Given the description of an element on the screen output the (x, y) to click on. 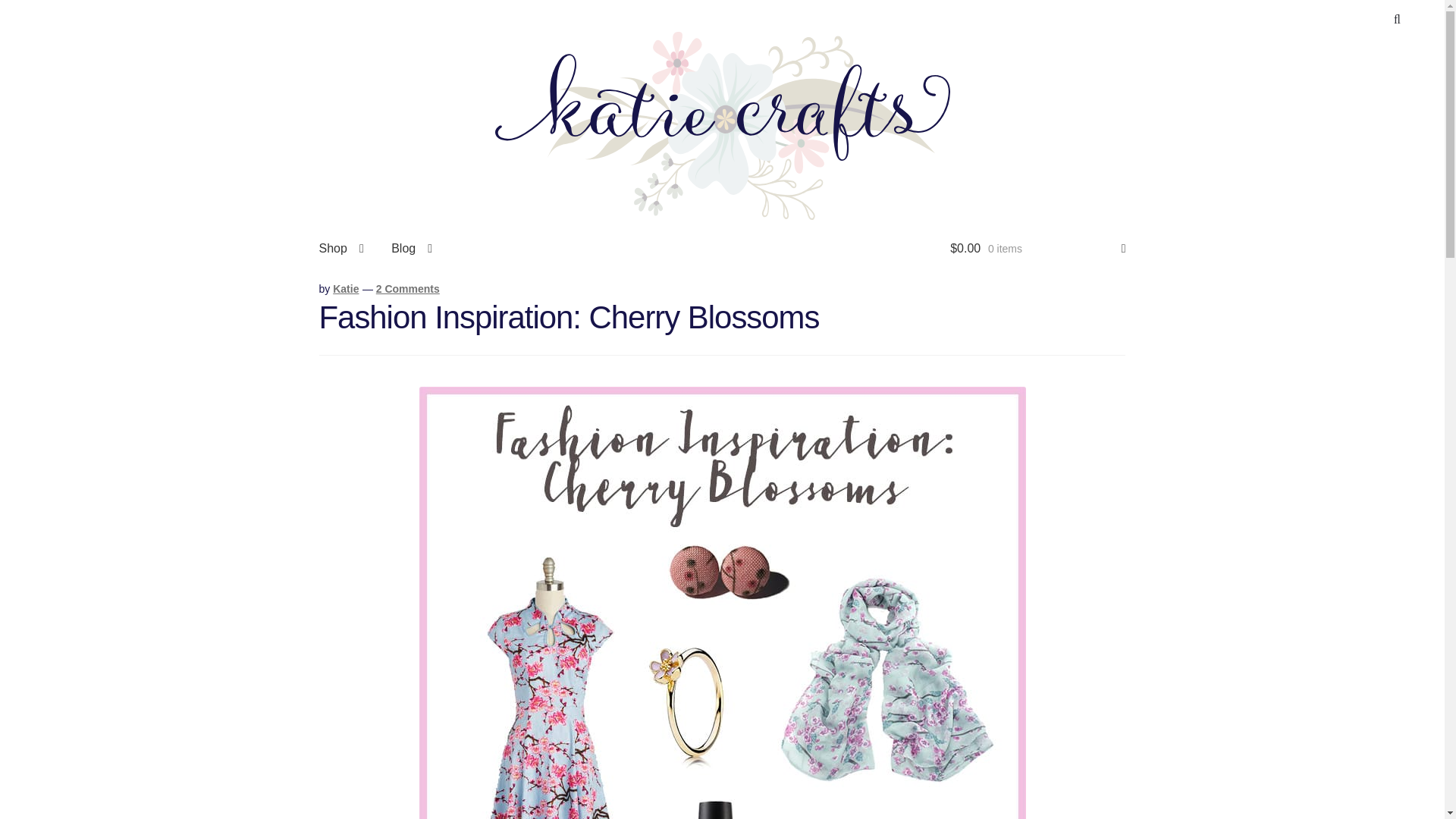
Katie (345, 288)
Blog (411, 249)
Search (1396, 19)
Shop (341, 249)
View your shopping cart (1037, 249)
2 Comments (407, 288)
